Given the description of an element on the screen output the (x, y) to click on. 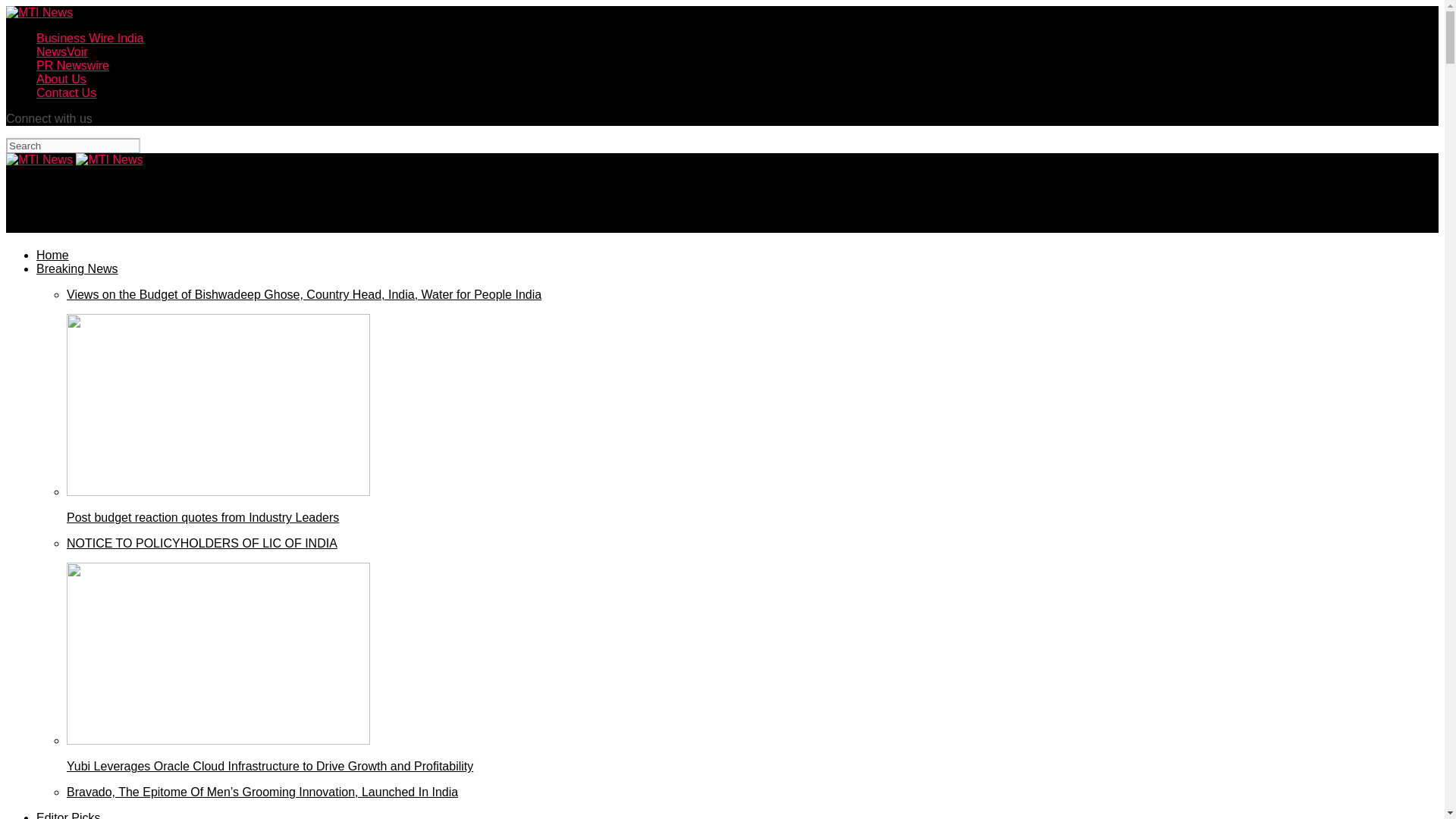
Business Wire India (89, 38)
Home (52, 254)
Breaking News (76, 268)
NewsVoir (61, 51)
Search (72, 145)
Contact Us (66, 92)
Editor Picks (68, 815)
PR Newswire (72, 65)
About Us (60, 78)
